Given the description of an element on the screen output the (x, y) to click on. 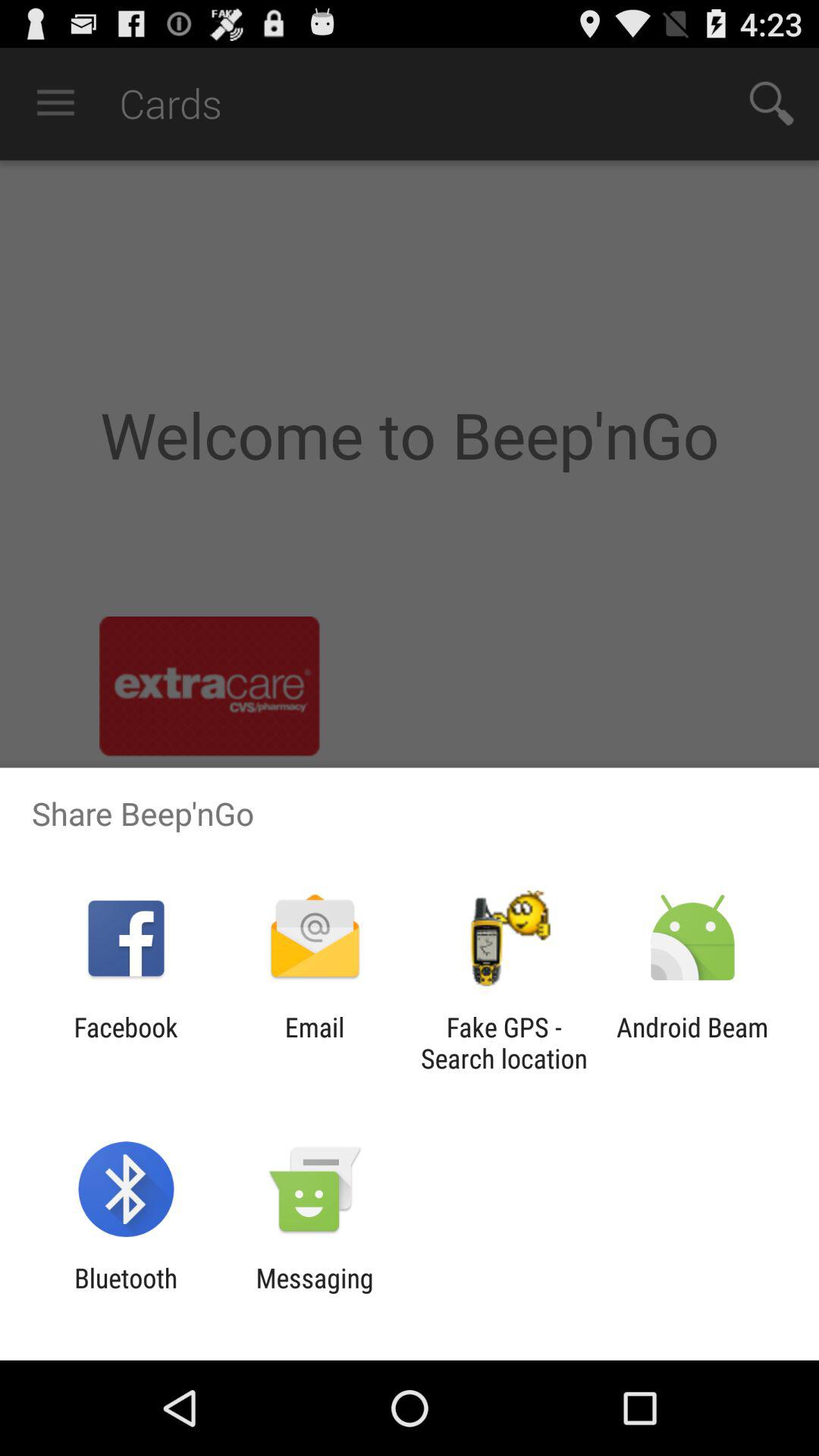
select item next to messaging icon (125, 1293)
